Given the description of an element on the screen output the (x, y) to click on. 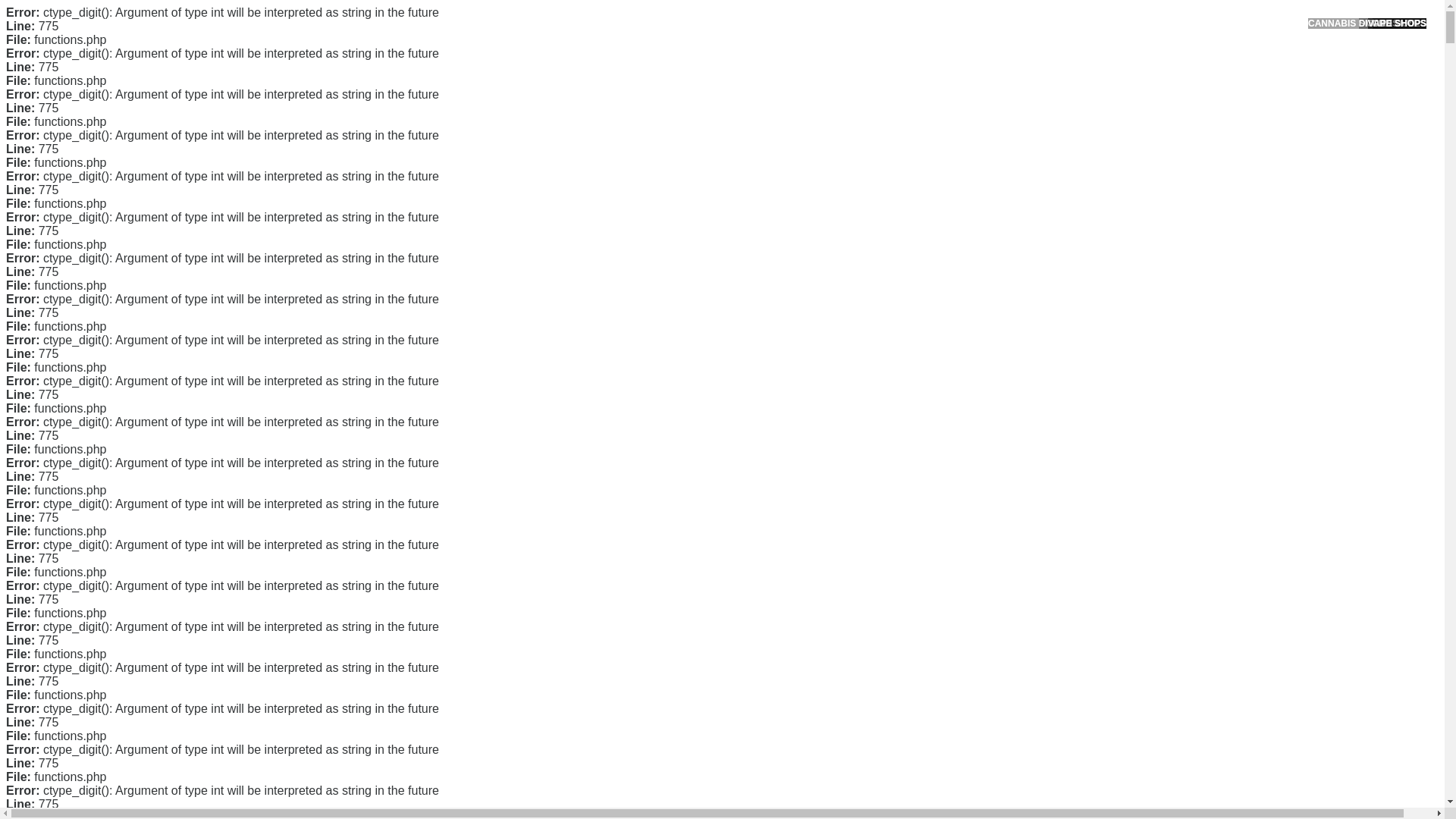
RSS (977, 612)
Terms of Use (996, 330)
Skip to content (34, 9)
Privacy Policy (999, 306)
Search (1050, 85)
Blog (976, 510)
Search (1050, 85)
Search for: (1049, 47)
Disclaimer (990, 354)
ADMINISTRATOR (417, 118)
Latest Article (996, 172)
September 2020 (1005, 432)
Log in (980, 588)
Search (1050, 85)
DMCA Policy (996, 282)
